Given the description of an element on the screen output the (x, y) to click on. 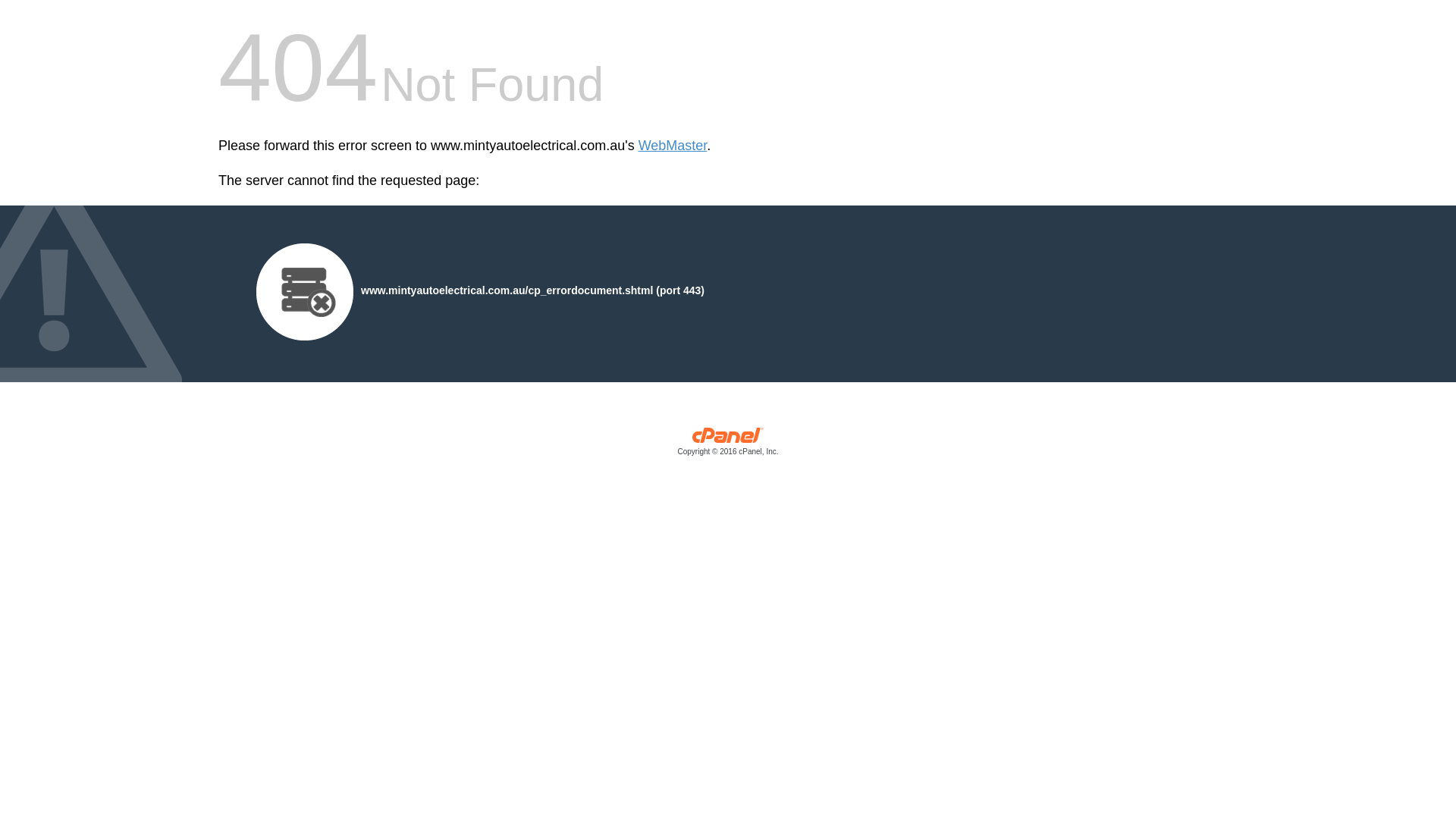
WebMaster Element type: text (672, 145)
